Given the description of an element on the screen output the (x, y) to click on. 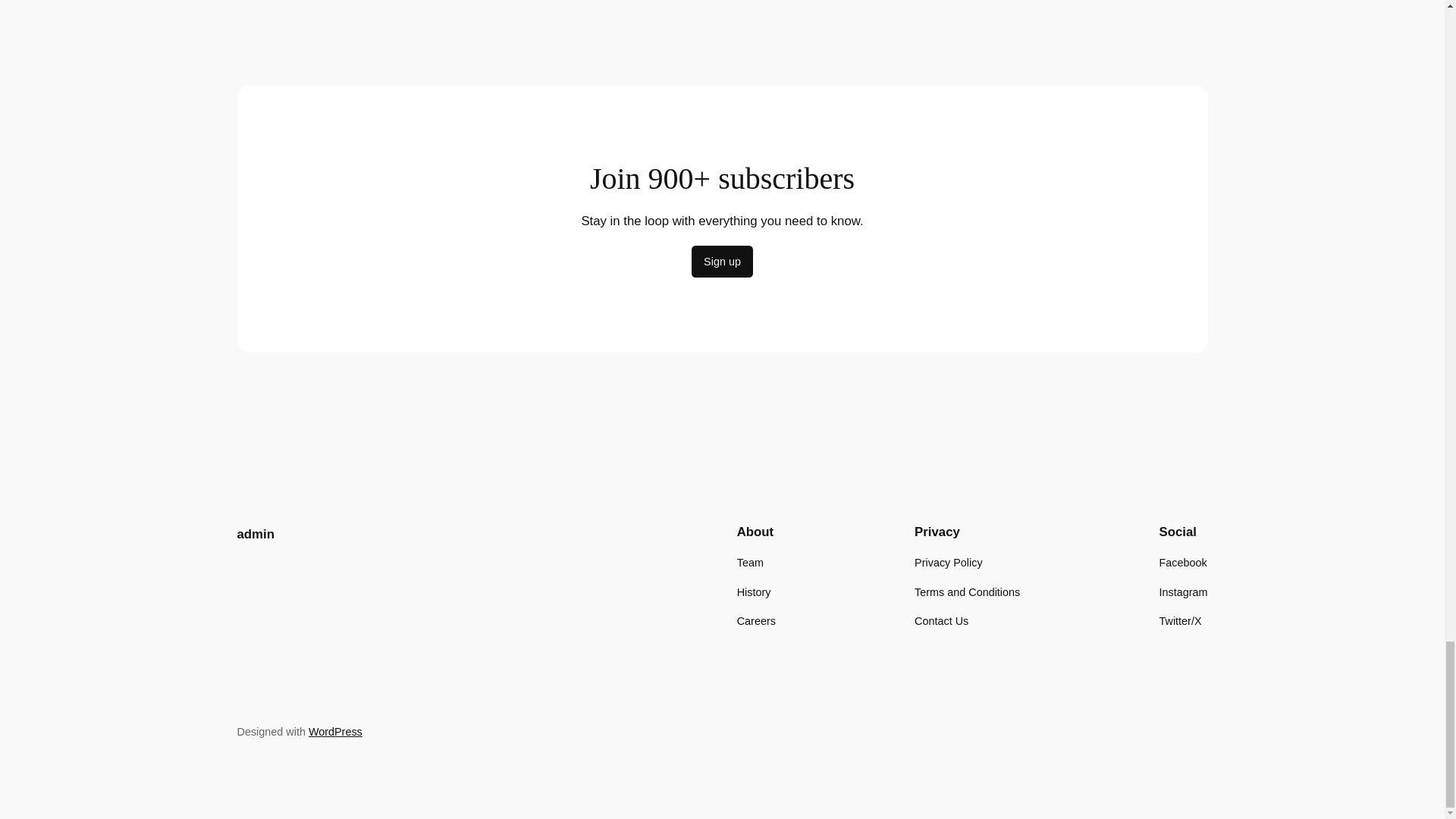
Facebook (1182, 562)
Privacy Policy (948, 562)
Sign up (721, 261)
Terms and Conditions (967, 591)
Team (749, 562)
Instagram (1182, 591)
WordPress (335, 731)
admin (254, 534)
Careers (756, 620)
History (753, 591)
